Given the description of an element on the screen output the (x, y) to click on. 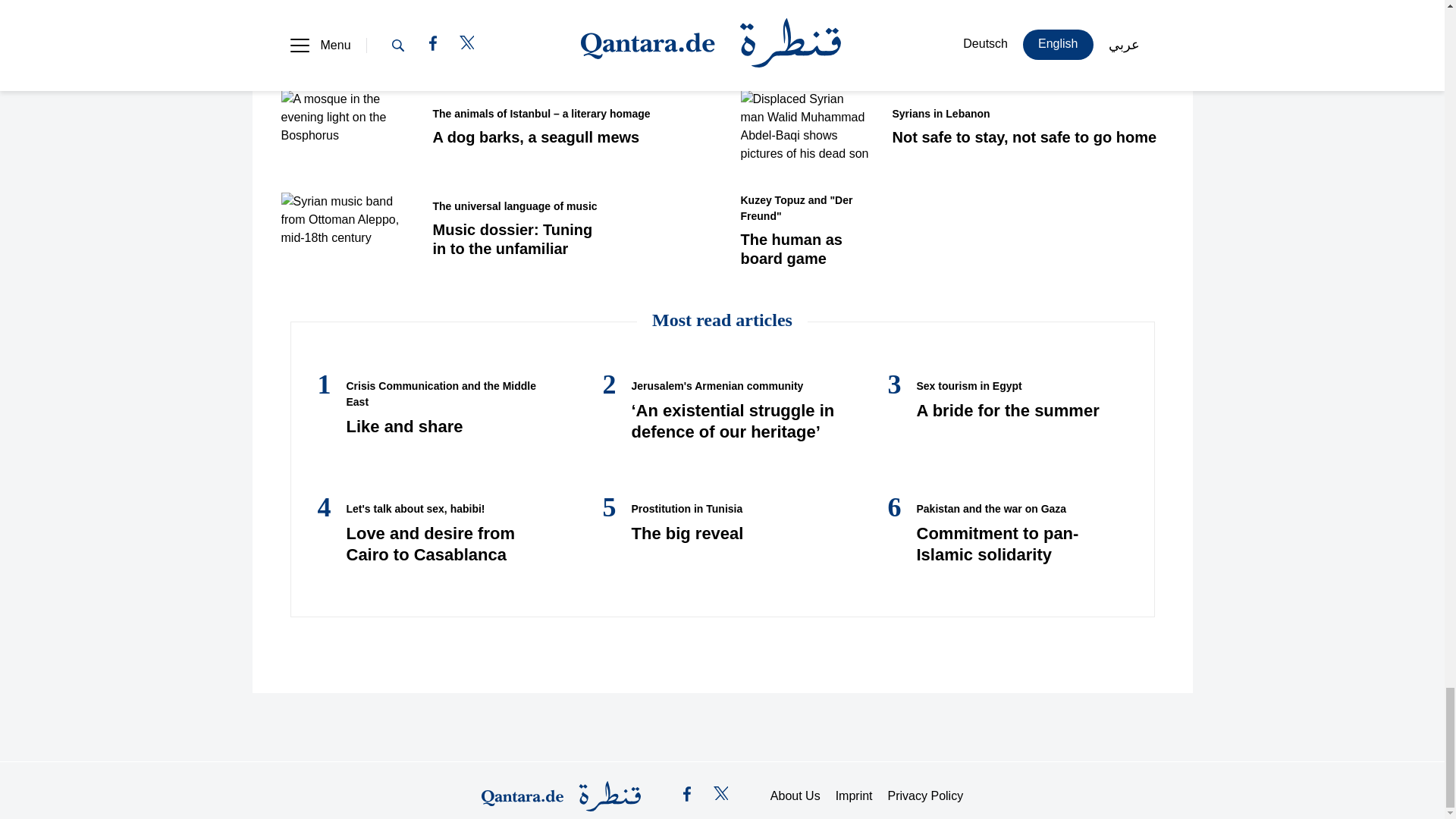
Syrian music band from Ottoman Aleppo, mid-18th century (345, 228)
Moroccan author Mohamed Choukri (345, 29)
Home (560, 796)
Privay Policy (925, 796)
Imprint (853, 796)
Traffic chaos in the megacity of Karachi, Pakistan (804, 29)
